Given the description of an element on the screen output the (x, y) to click on. 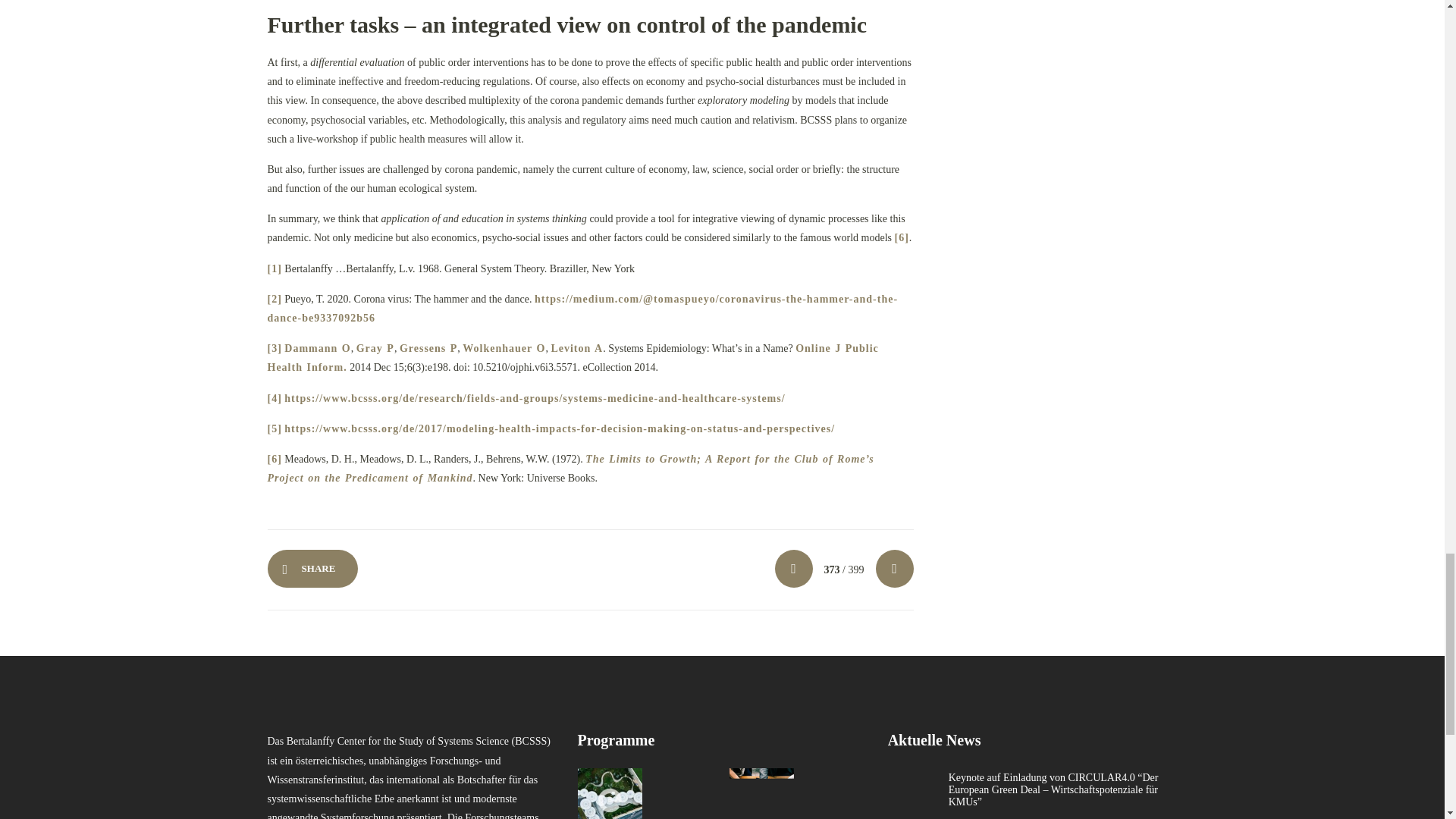
Circular Economy Forum Austria (610, 793)
Ecocivilisation (685, 793)
Transdisciplinarity Lab (761, 793)
